Given the description of an element on the screen output the (x, y) to click on. 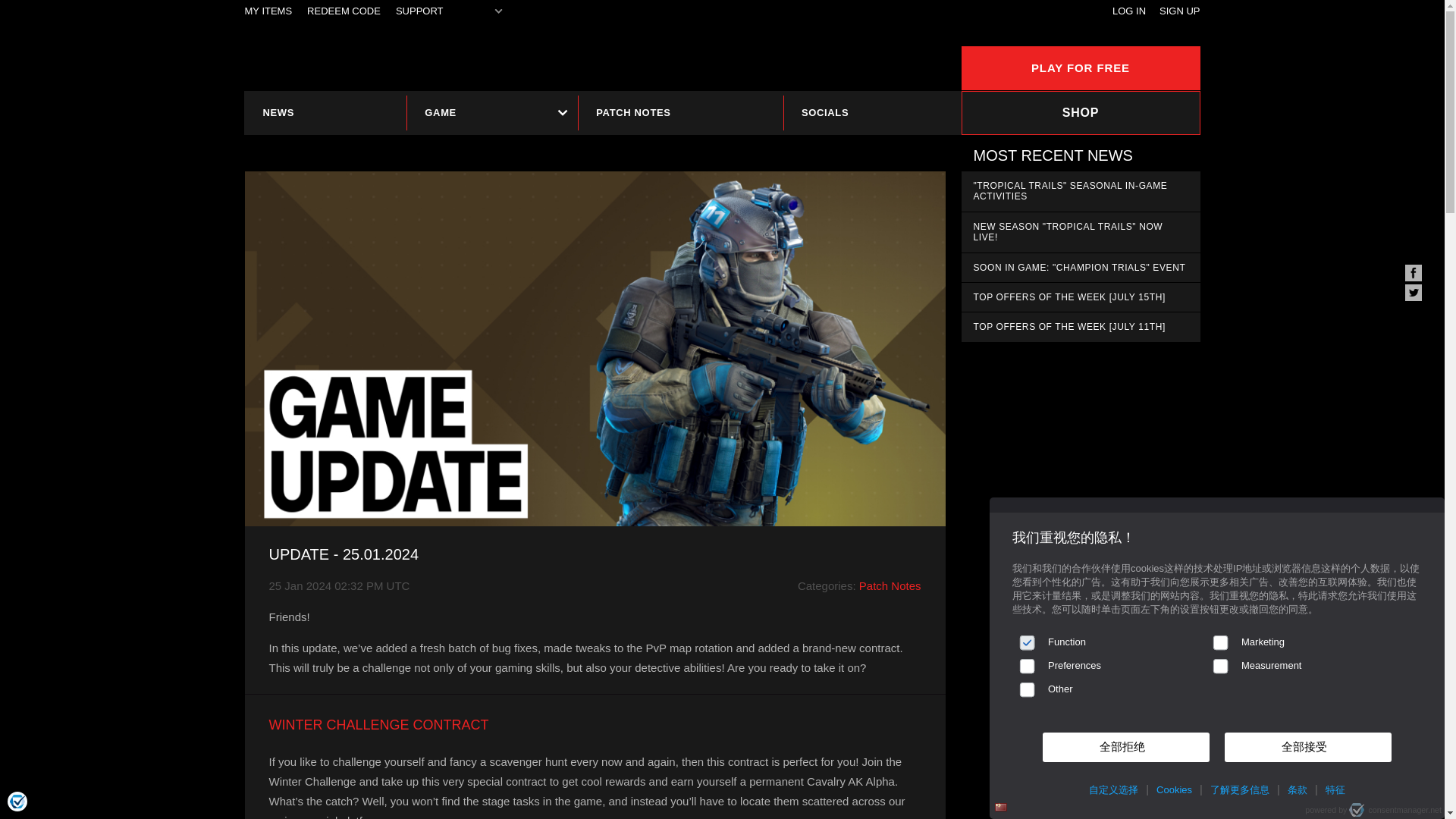
MY ITEMS (268, 11)
Language: zh (1000, 806)
consentmanager.net (1395, 809)
REDEEM CODE (343, 11)
Cookies (1173, 790)
SUPPORT (420, 11)
Language: zh (1000, 807)
